Given the description of an element on the screen output the (x, y) to click on. 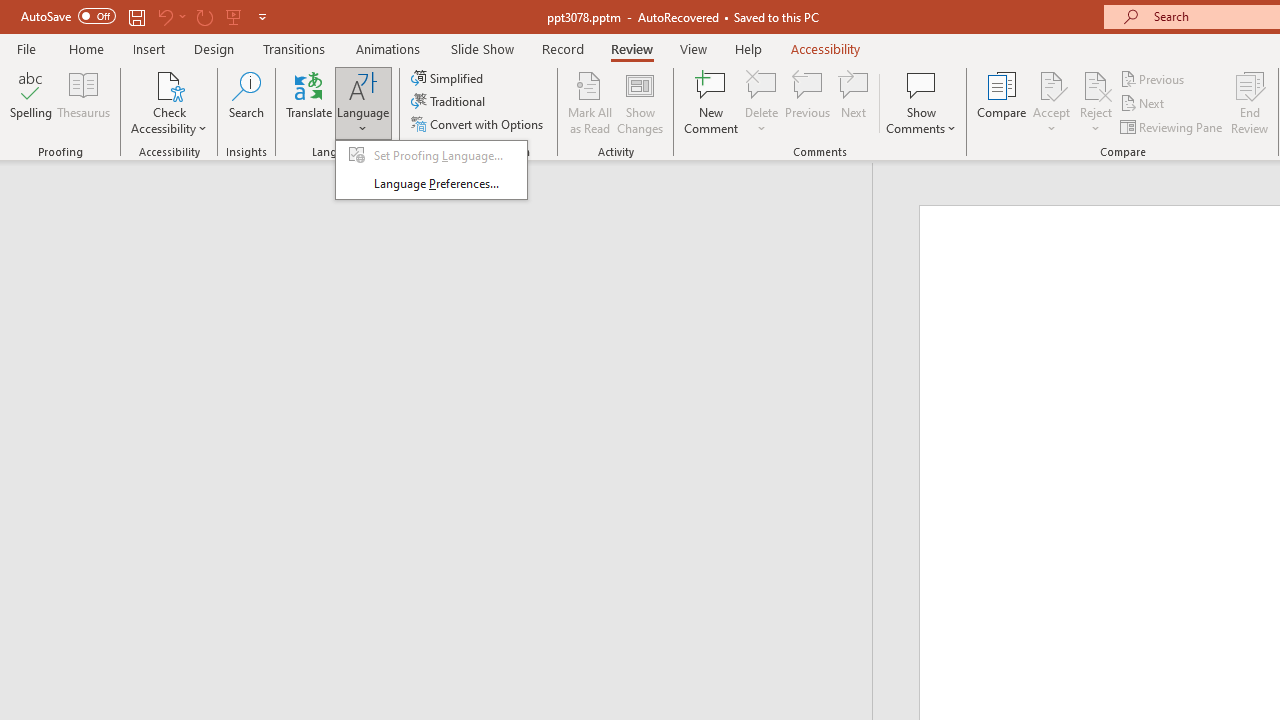
Translate (309, 102)
